Given the description of an element on the screen output the (x, y) to click on. 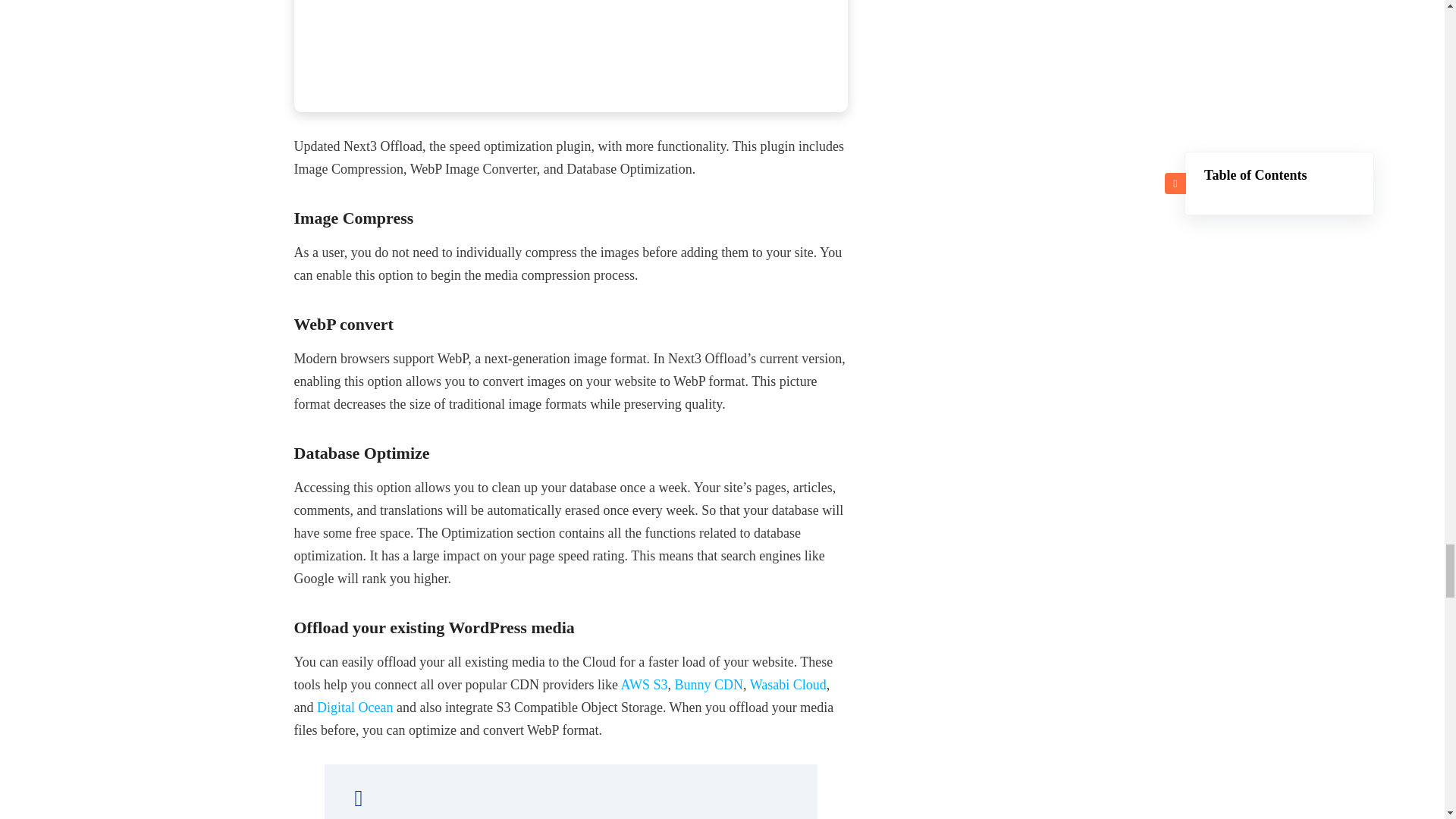
AWS S3 (643, 684)
Wasabi Cloud (788, 684)
Bunny CDN (709, 684)
Digital Ocean (355, 707)
